Given the description of an element on the screen output the (x, y) to click on. 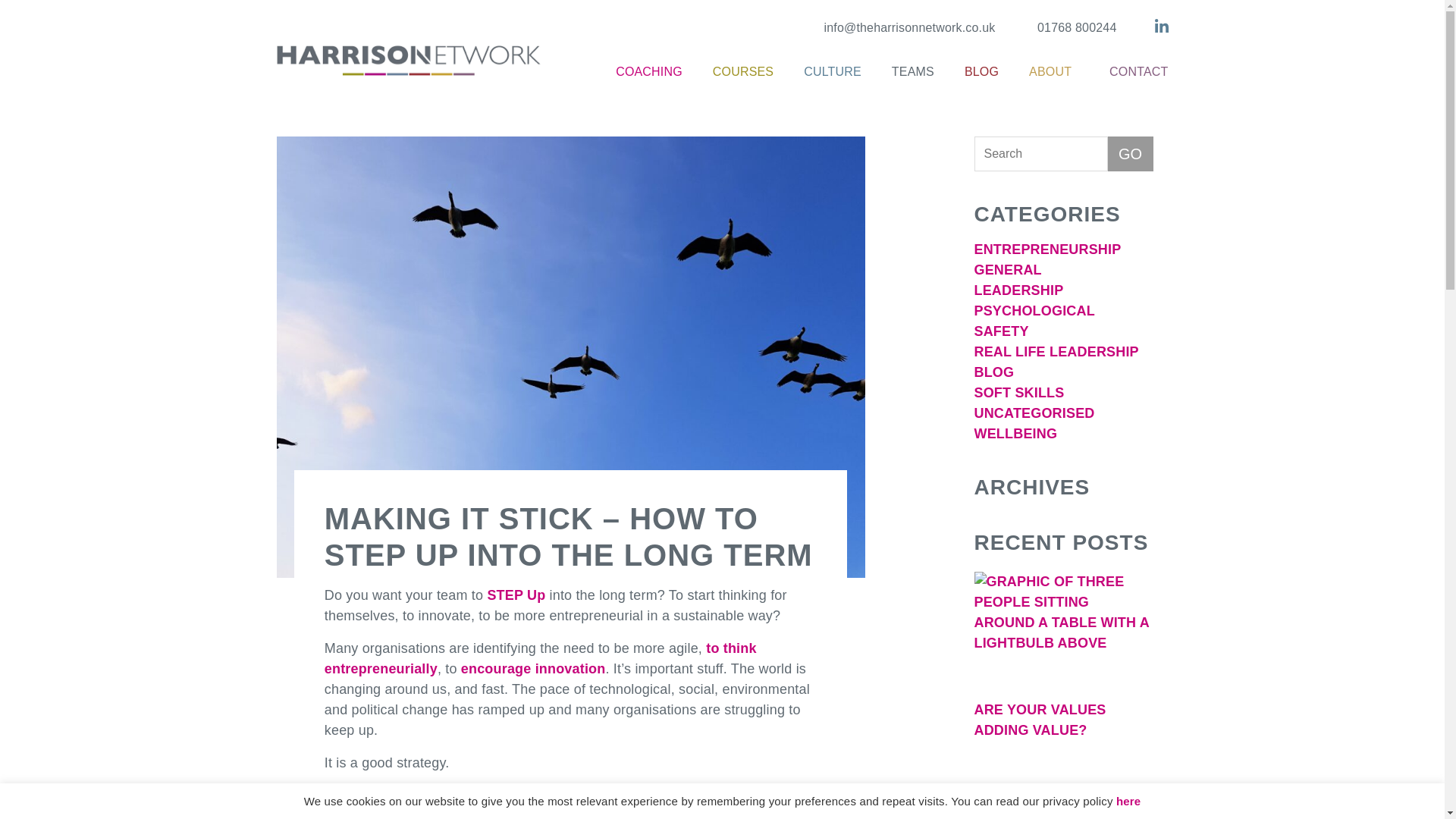
entrepreneurial in our way of thinking (616, 795)
UNCATEGORISED (1034, 412)
PSYCHOLOGICAL SAFETY (1034, 321)
GO (1129, 153)
GO (1129, 153)
GENERAL (1007, 269)
WELLBEING (1015, 433)
to think entrepreneurially (540, 658)
REAL LIFE LEADERSHIP BLOG (1056, 361)
SOFT SKILLS (1019, 392)
